Given the description of an element on the screen output the (x, y) to click on. 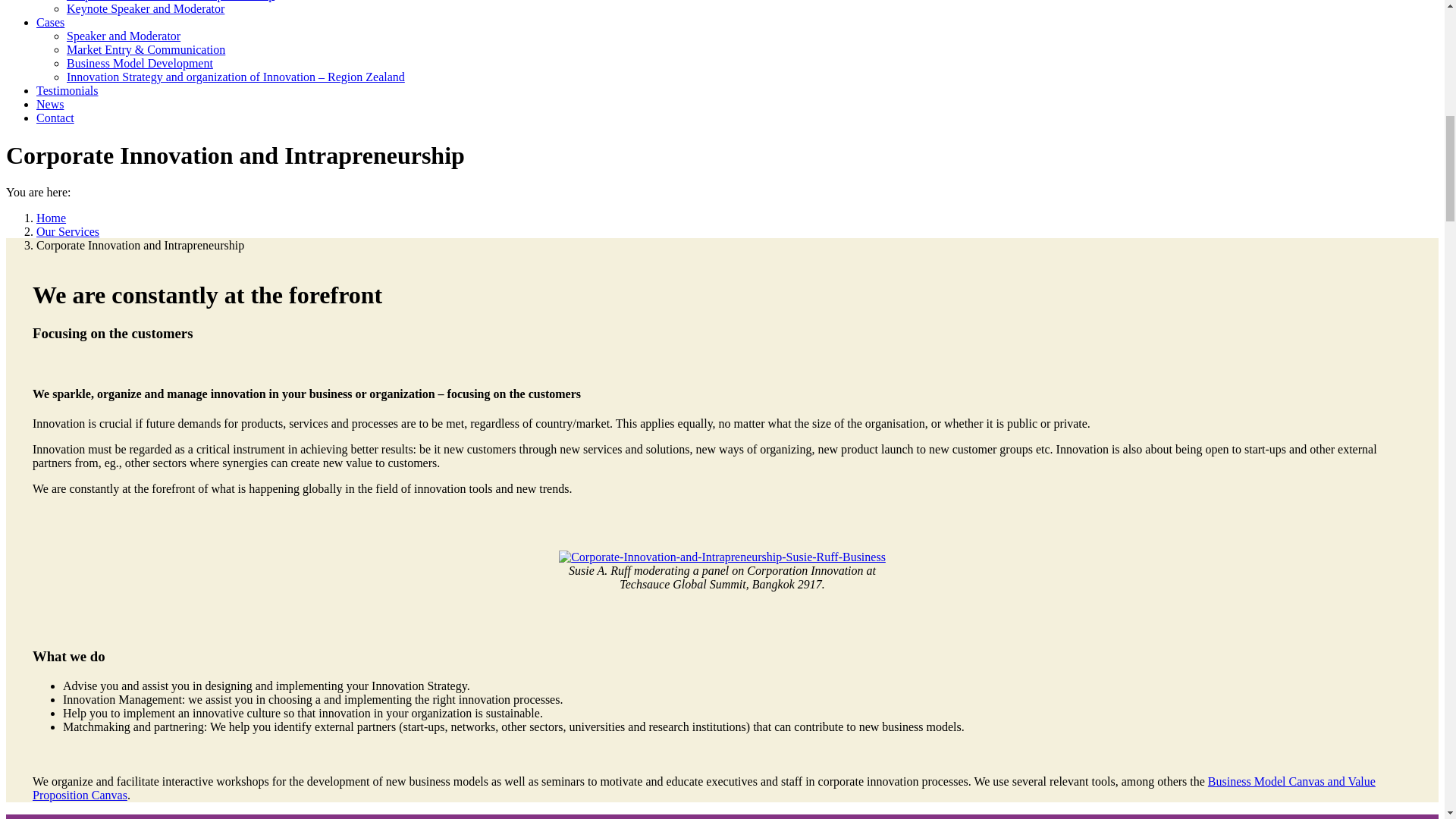
Home (50, 217)
Our Services (67, 231)
